Given the description of an element on the screen output the (x, y) to click on. 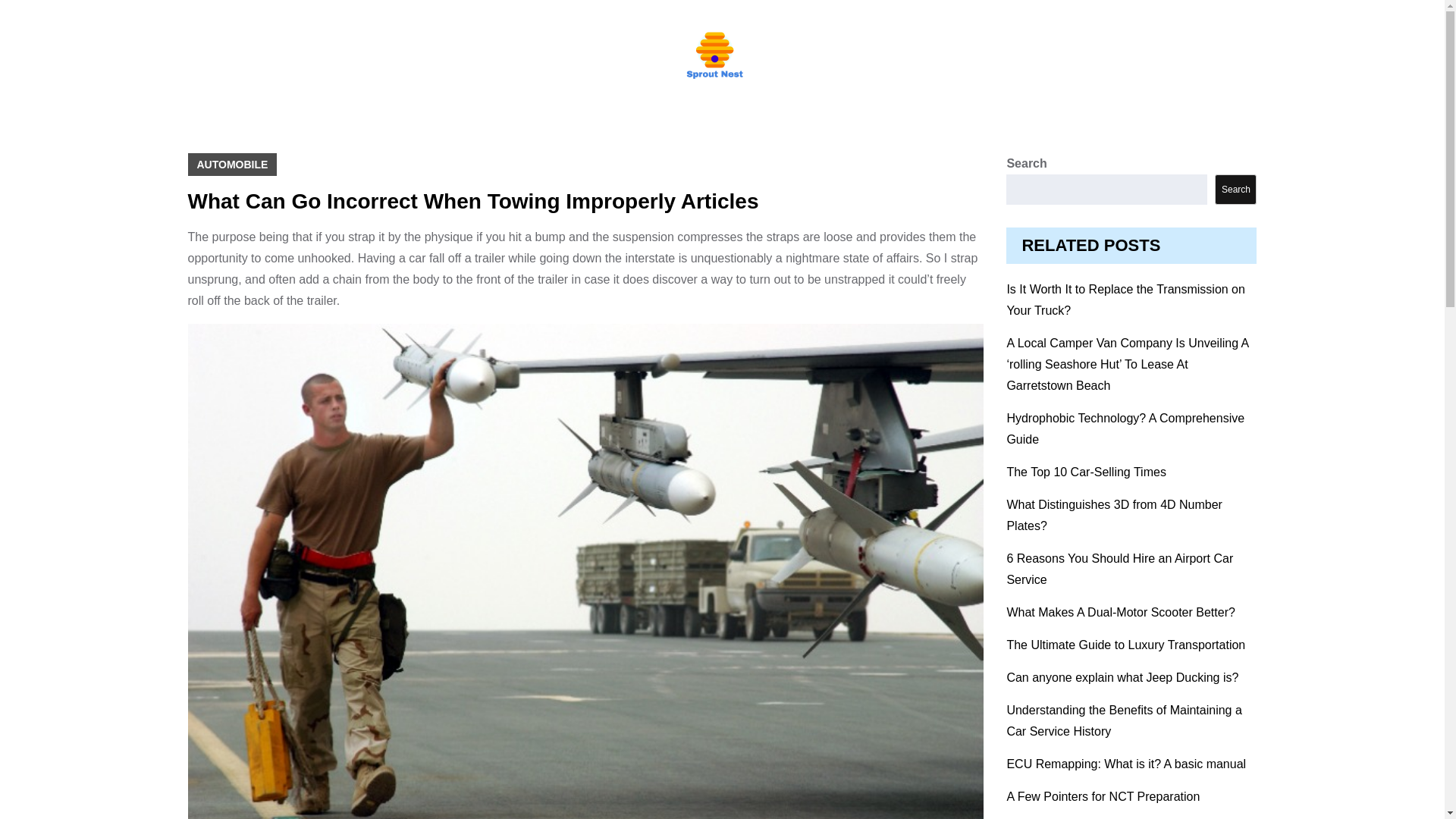
The Top 10 Car-Selling Times (1086, 472)
The Ultimate Guide to Luxury Transportation (1125, 644)
Search (1235, 189)
Hydrophobic Technology? A Comprehensive Guide (1125, 428)
A Few Pointers for NCT Preparation (1102, 796)
Can anyone explain what Jeep Ducking is? (1122, 676)
What Makes A Dual-Motor Scooter Better? (1120, 612)
What Distinguishes 3D from 4D Number Plates? (1114, 514)
6 Reasons You Should Hire an Airport Car Service (1119, 569)
